Given the description of an element on the screen output the (x, y) to click on. 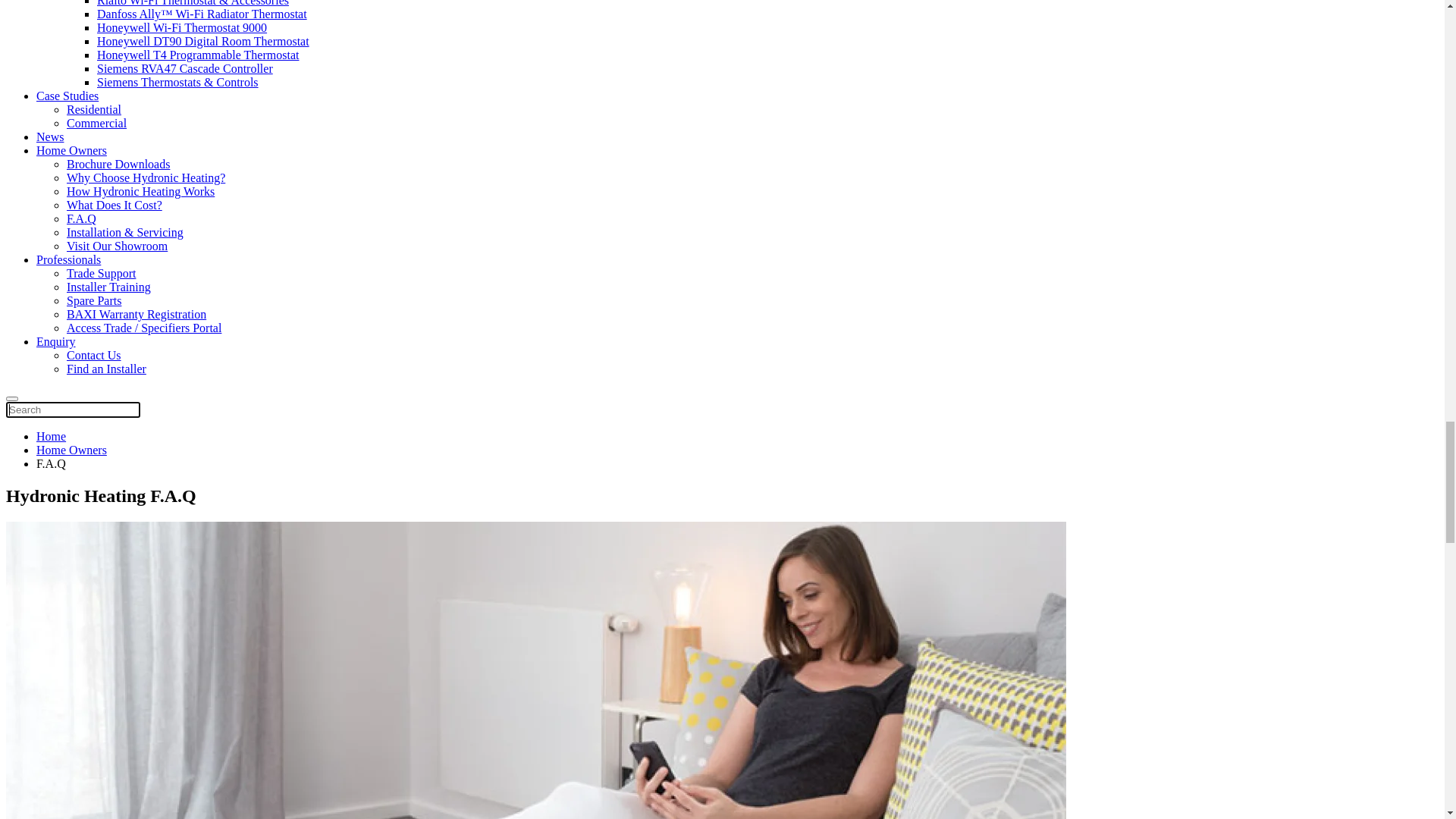
BAXI LunaHT Condensing Boiler Element type: text (180, 289)
Emmeti Gerpex Tools & Accessories Element type: text (186, 712)
Commercial Boilers Element type: text (115, 248)
Plinth Radiators Element type: text (136, 494)
Heat Pumps Element type: text (95, 398)
Emmeti Gerpex Multilayer Pipe Element type: text (175, 589)
Floor Panels Standard Element type: text (150, 562)
HydroPak Kits Element type: text (133, 330)
Why HydroHeat? Element type: text (79, 98)
Piping Systems Element type: text (103, 685)
Emmeti Floor Coil Dispenser Element type: text (168, 767)
BAXI Zone Management Element type: text (159, 357)
BAXI Luna Duo-Tec GA+ Condensing Boiler Element type: text (209, 221)
Quality European Brands Element type: text (128, 125)
BAXI Power HT Condensing Boiler Element type: text (185, 303)
Plinths to Suit Baxi Power HT Element type: text (170, 371)
Products Element type: text (57, 166)
Certified and Accredited Element type: text (125, 139)
Radiators, Towel Warmers & Trench Heating Element type: text (175, 439)
BAXI Power HT+ Condensing Boiler Element type: text (189, 275)
Trench Heating Element type: text (134, 521)
Vertical Radiators Element type: text (140, 480)
Relay Boxes Element type: text (127, 344)
Emmeti PE-Xa Floor Coil Piping Element type: text (177, 753)
Emmeti PE-Xa Floor Coil Piping Element type: text (177, 603)
BAXI Luna Duo-Tec E Condensing Boiler Element type: text (200, 207)
Trade / Specifiers Portal Element type: text (166, 45)
Emmeti Gerpex Multilayer Pipe Element type: text (175, 740)
BAXI Auriga 10A Heat Pump Element type: text (170, 412)
Panel Radiators Element type: text (135, 467)
Residential Boilers Element type: text (112, 180)
Fitting Lubricants and Sealants Element type: text (172, 726)
BAXI Boiler Efficiency Ratings Element type: text (144, 153)
Designer Radiators Element type: text (143, 453)
Giacomini Modular Manifolds Element type: text (171, 644)
Towel Warmers Element type: text (135, 508)
BAXI Luna3HT Condensing Boiler Element type: text (183, 235)
Emmeti Gerpex Pipe Fittings Element type: text (167, 699)
BAXI Luna3 Comfort Conventional Boiler Element type: text (201, 194)
HydroHeat Supplies Hydronic System Element type: hover (105, 72)
(03) 9588 1299 Element type: text (69, 45)
Officine Rigamonti Valves & Accessories (for Boilers) Element type: text (229, 808)
Emmeti TM3 Mixing Manifolds Element type: text (175, 630)
Dry Floor Panel System Element type: text (155, 576)
BAXI Auriga 16A Heat Pump Element type: text (170, 426)
Emmeti TM2 Top Way Bar Manifolds Element type: text (189, 617)
Stainless Steel Flue Systems Element type: text (166, 385)
BAXI Luna Duo-Tec MP+ Condensing Boiler Element type: text (209, 262)
Boiler Accessories Element type: text (111, 316)
Zetco Series 1330 Brass Ball Valves (for Boilers) Element type: text (216, 794)
Boiler & Radiator Valves Element type: text (127, 781)
Winkler Pipe Fastening System Element type: text (173, 671)
Emmeti Floor Coil Dispenser Element type: text (168, 658)
Floor Heating Systems Element type: text (122, 535)
Floor Panels Standard Combi Element type: text (168, 548)
Why Choose HydroHeat? Element type: text (128, 112)
